Given the description of an element on the screen output the (x, y) to click on. 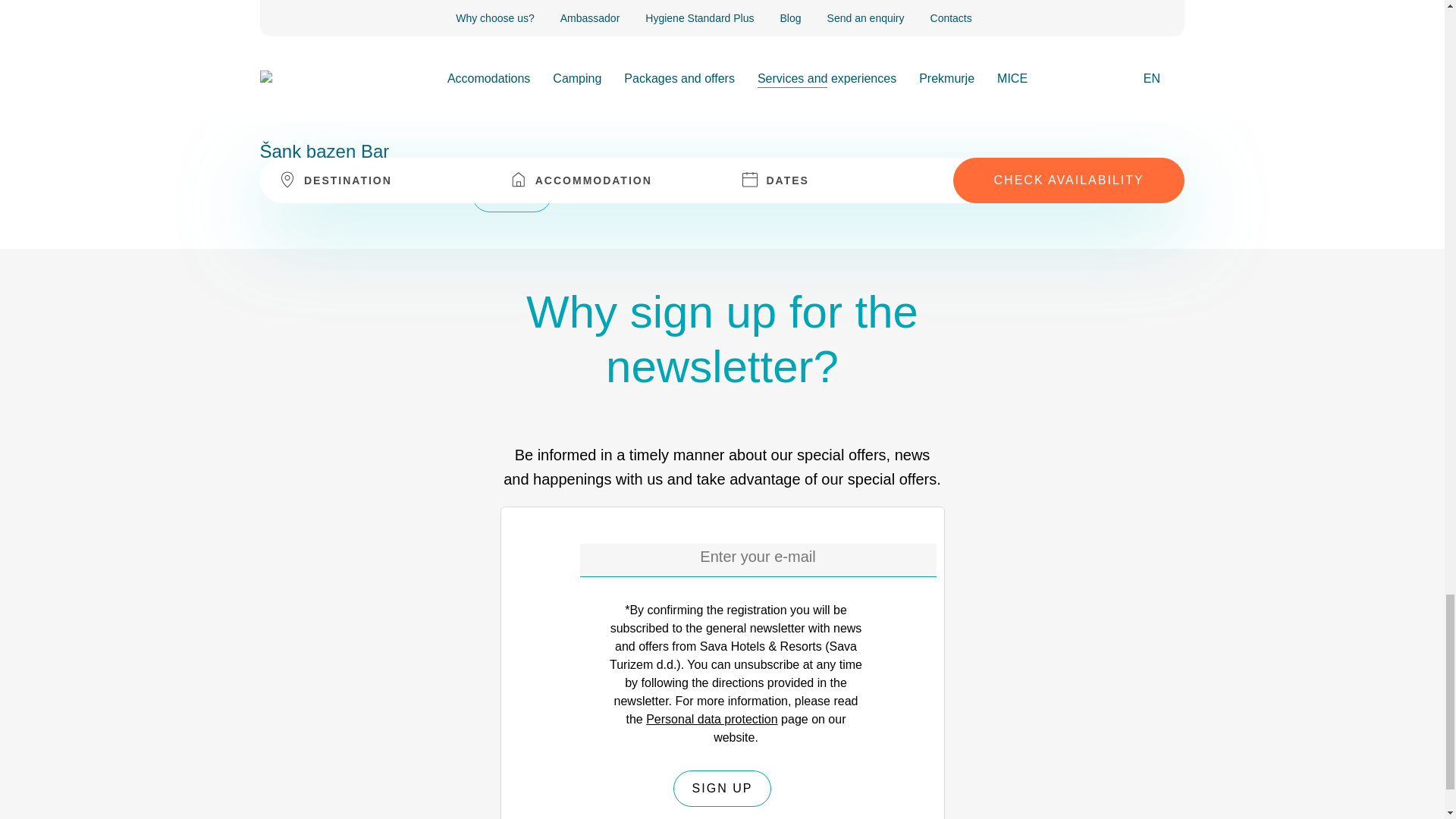
Varstvo osebnih podatkov (711, 718)
